Given the description of an element on the screen output the (x, y) to click on. 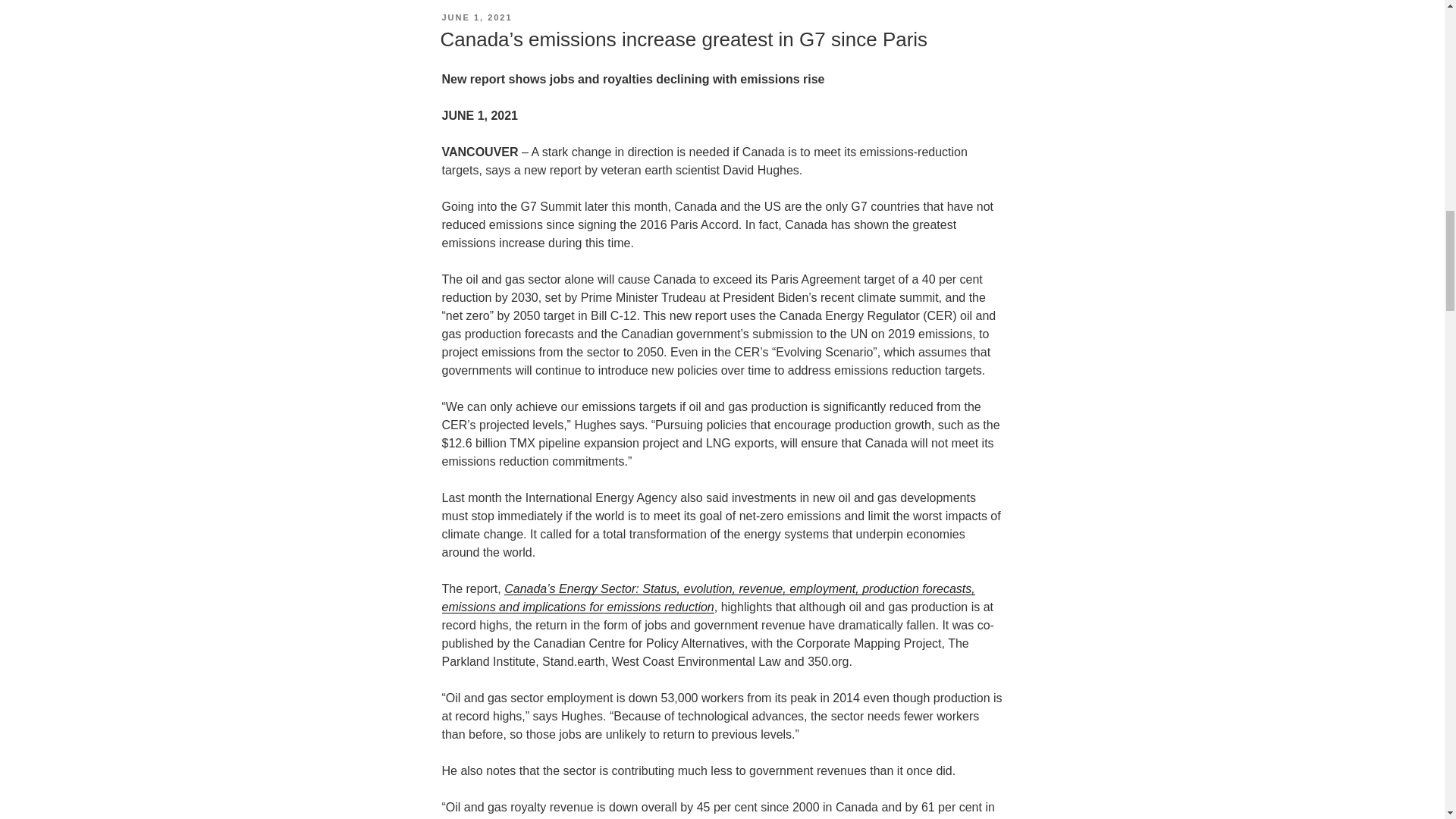
JUNE 1, 2021 (476, 17)
